Given the description of an element on the screen output the (x, y) to click on. 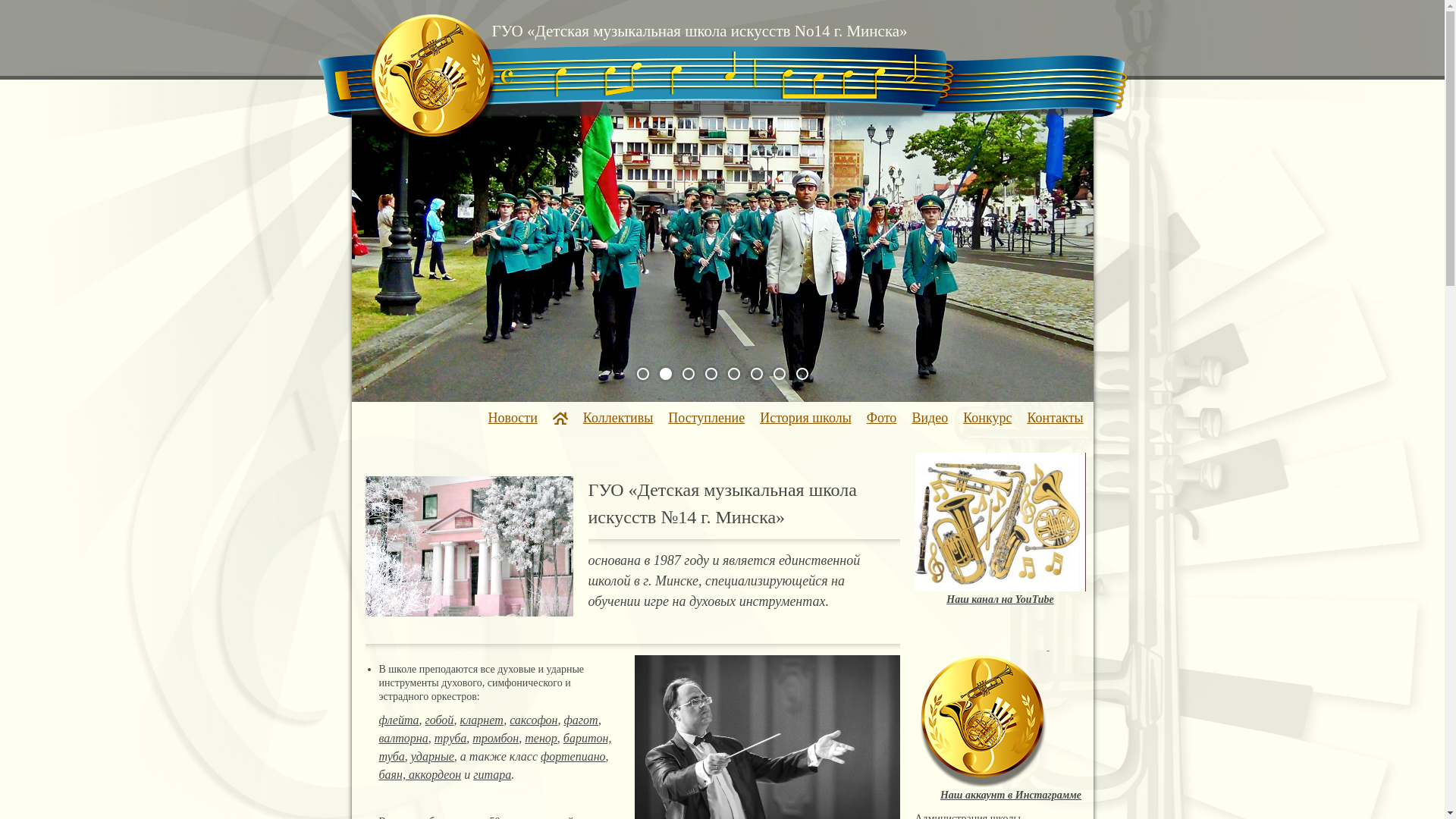
  Element type: text (982, 682)
